Given the description of an element on the screen output the (x, y) to click on. 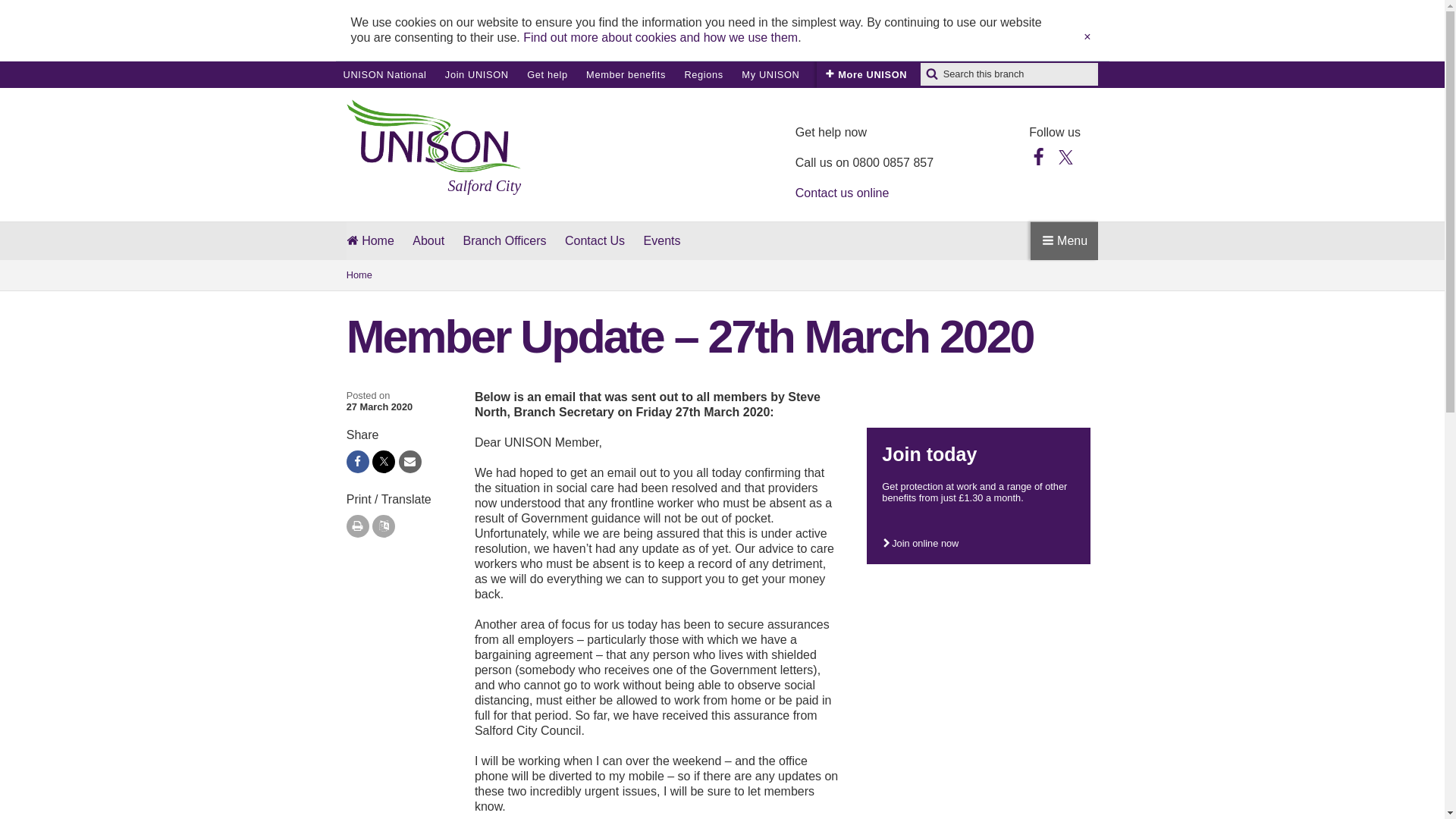
Regions (703, 74)
UNISON National (384, 74)
Home (722, 275)
Facebook (1038, 156)
Home (370, 240)
Menu (692, 240)
Join UNISON (1063, 240)
Print page (476, 74)
My UNISON (357, 526)
More UNISON (770, 74)
Member benefits (865, 74)
Search this branch (625, 74)
